Given the description of an element on the screen output the (x, y) to click on. 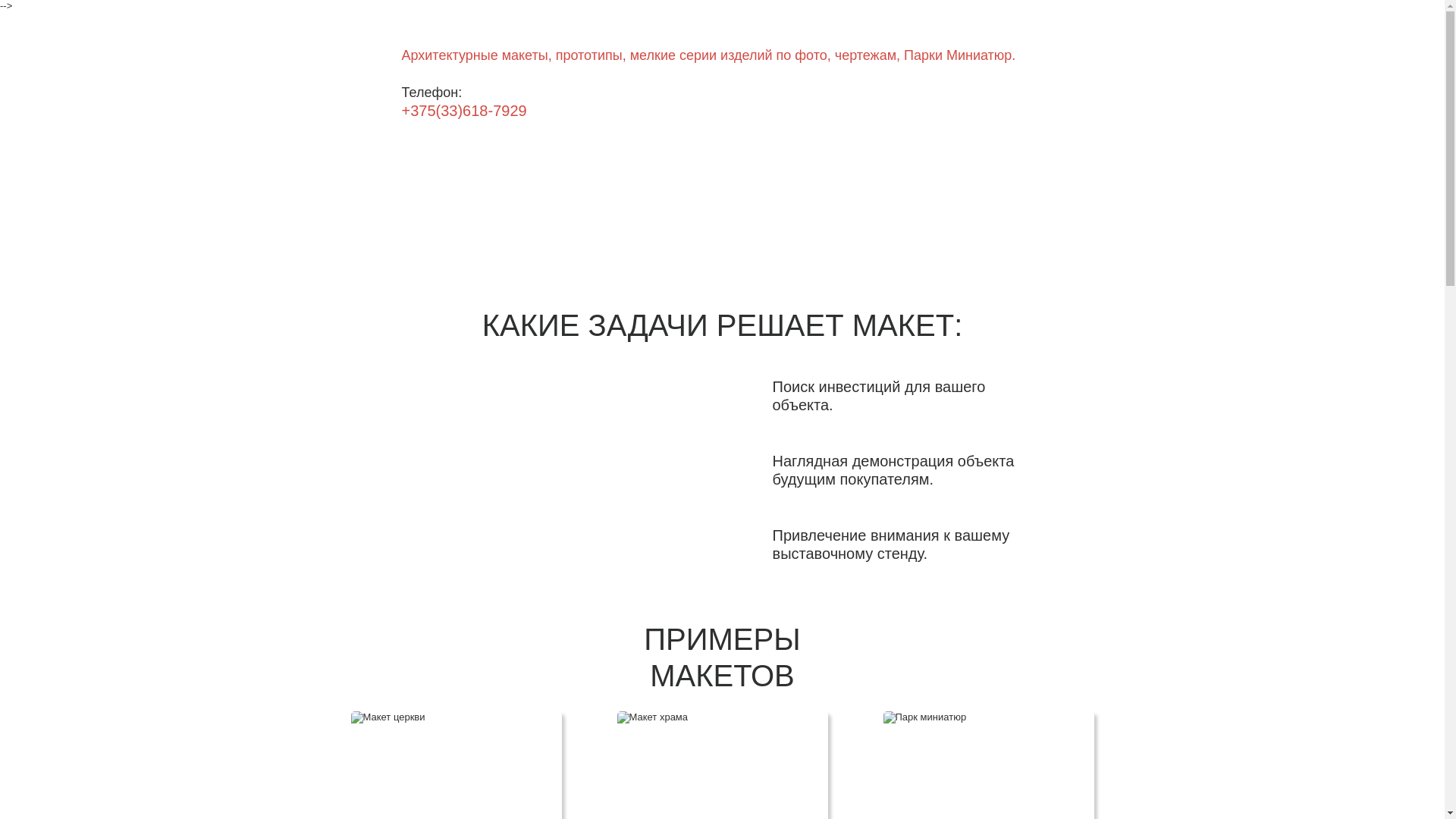
+375(33)618-7929 Element type: text (464, 110)
